Given the description of an element on the screen output the (x, y) to click on. 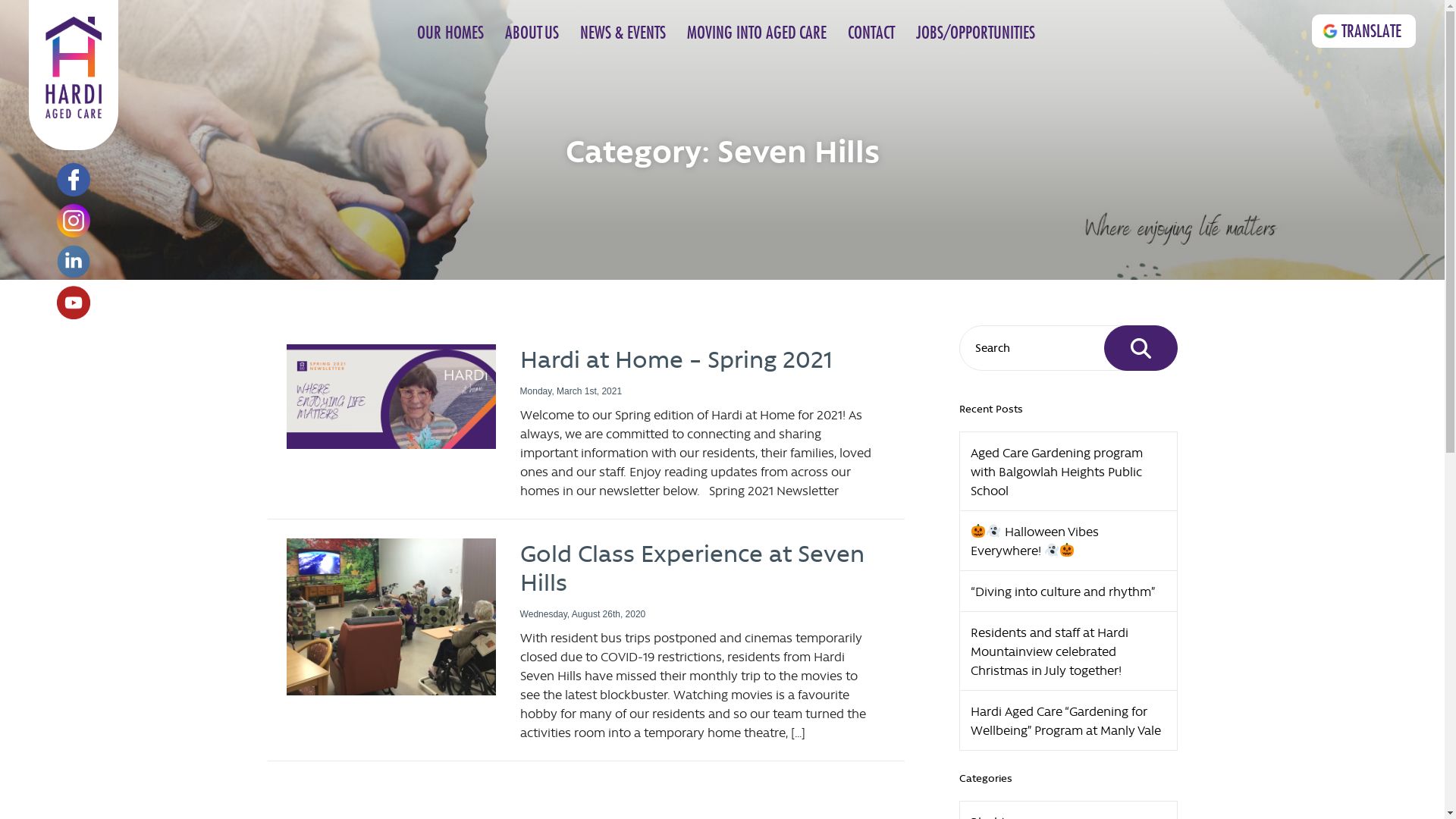
JOBS/OPPORTUNITIES Element type: text (975, 32)
OUR HOMES Element type: text (450, 32)
ABOUT US Element type: text (531, 32)
TRANSLATE Element type: text (1363, 30)
NEWS & EVENTS Element type: text (622, 32)
CONTACT Element type: text (871, 32)
MOVING INTO AGED CARE Element type: text (756, 32)
Halloween Vibes Everywhere! Element type: text (1068, 540)
